Given the description of an element on the screen output the (x, y) to click on. 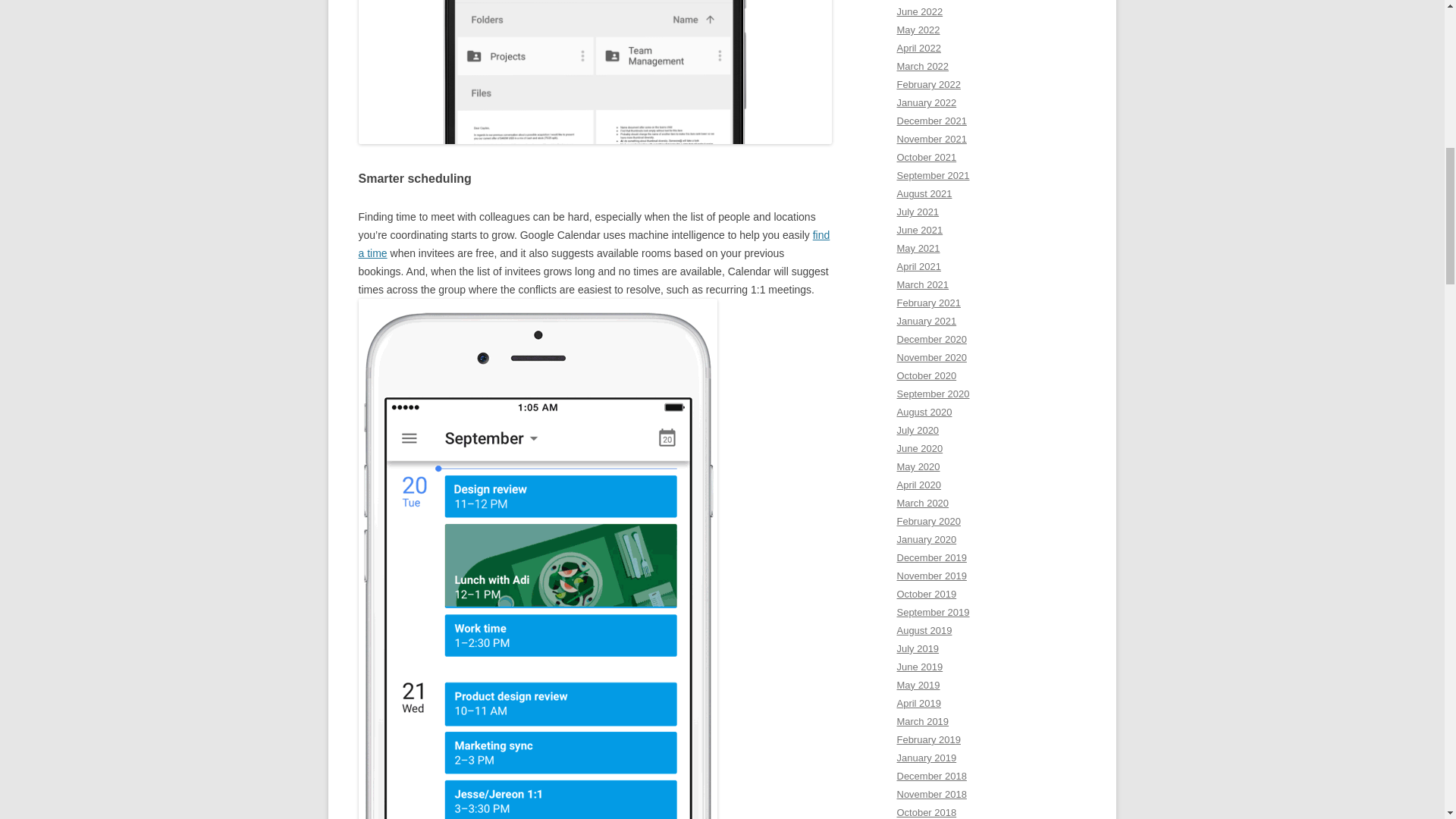
find a time (593, 244)
